Given the description of an element on the screen output the (x, y) to click on. 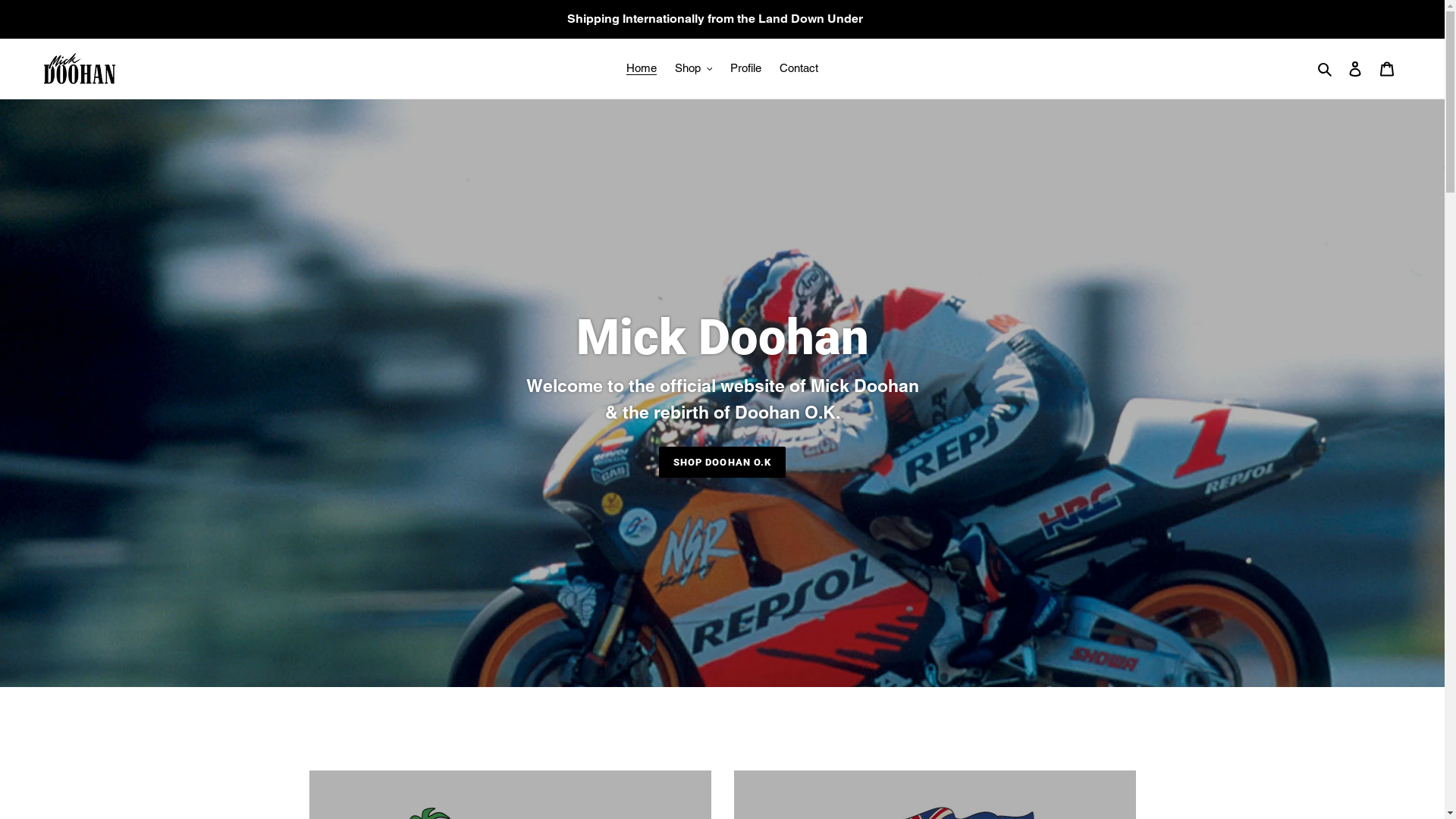
Cart Element type: text (1386, 68)
Shop Element type: text (693, 68)
Home Element type: text (641, 68)
Log in Element type: text (1355, 68)
SHOP DOOHAN O.K Element type: text (721, 461)
Profile Element type: text (745, 68)
Search Element type: text (1325, 68)
Contact Element type: text (798, 68)
